Given the description of an element on the screen output the (x, y) to click on. 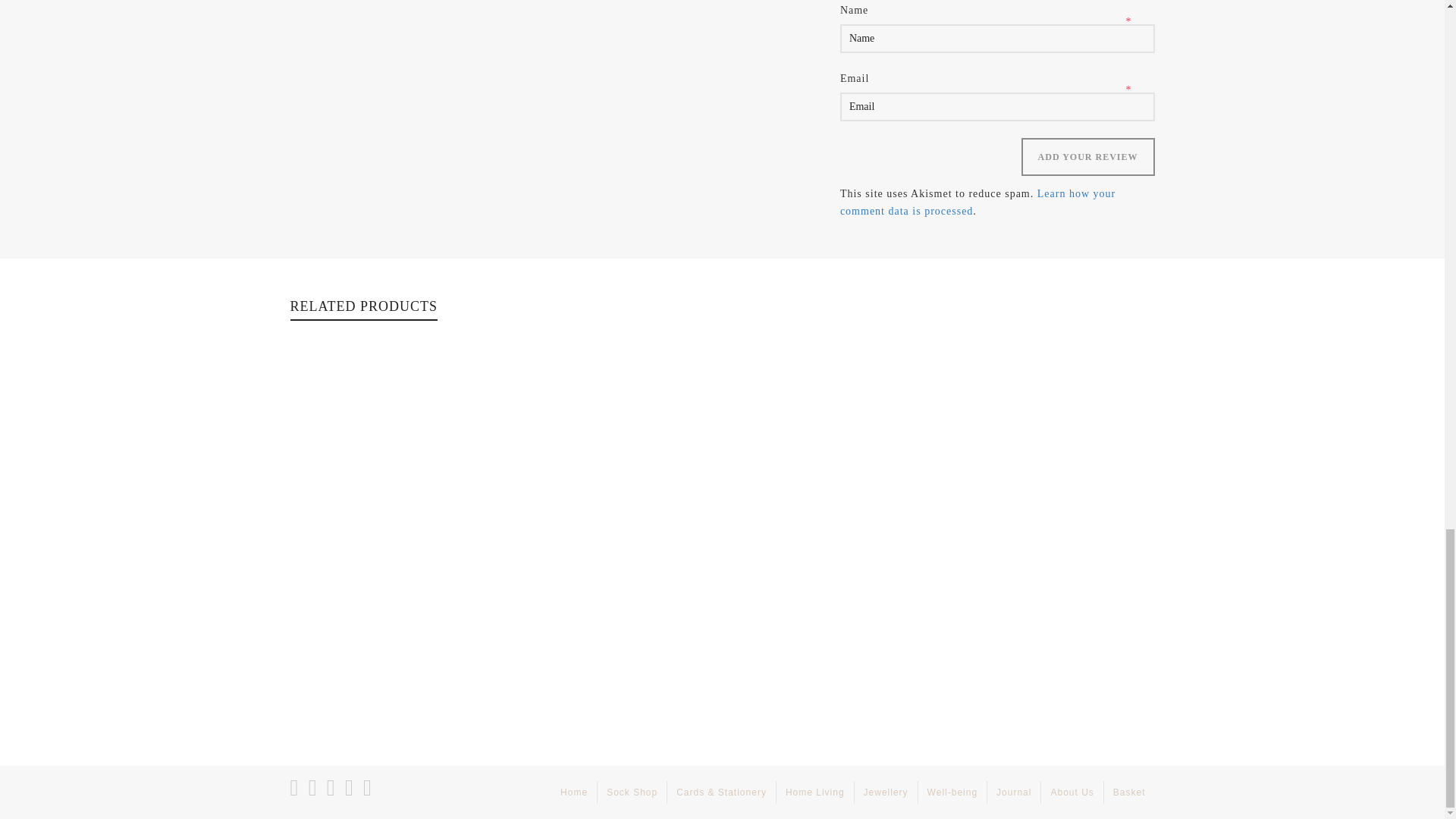
Add your review (1088, 157)
